Given the description of an element on the screen output the (x, y) to click on. 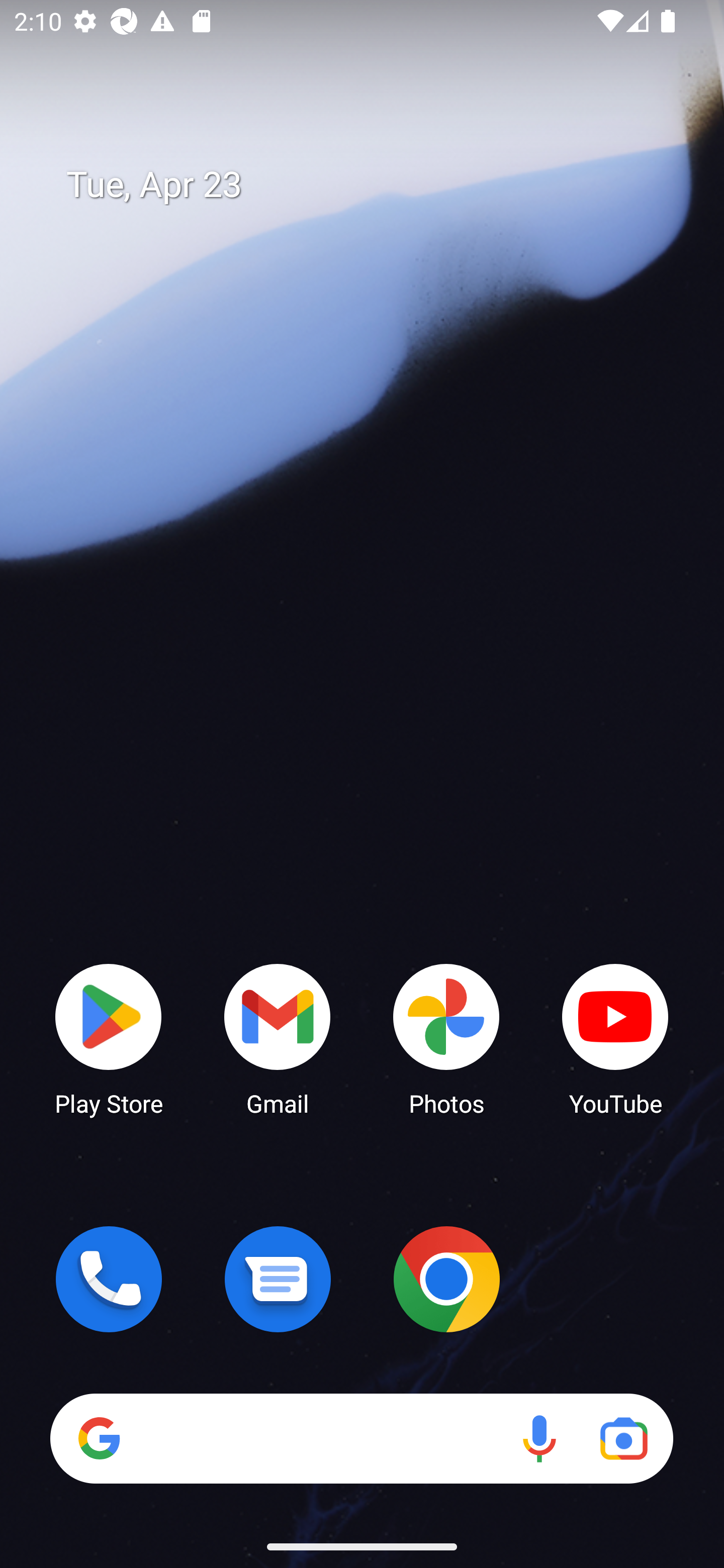
Tue, Apr 23 (375, 184)
Play Store (108, 1038)
Gmail (277, 1038)
Photos (445, 1038)
YouTube (615, 1038)
Phone (108, 1279)
Messages (277, 1279)
Chrome (446, 1279)
Search Voice search Google Lens (361, 1438)
Voice search (539, 1438)
Google Lens (623, 1438)
